Given the description of an element on the screen output the (x, y) to click on. 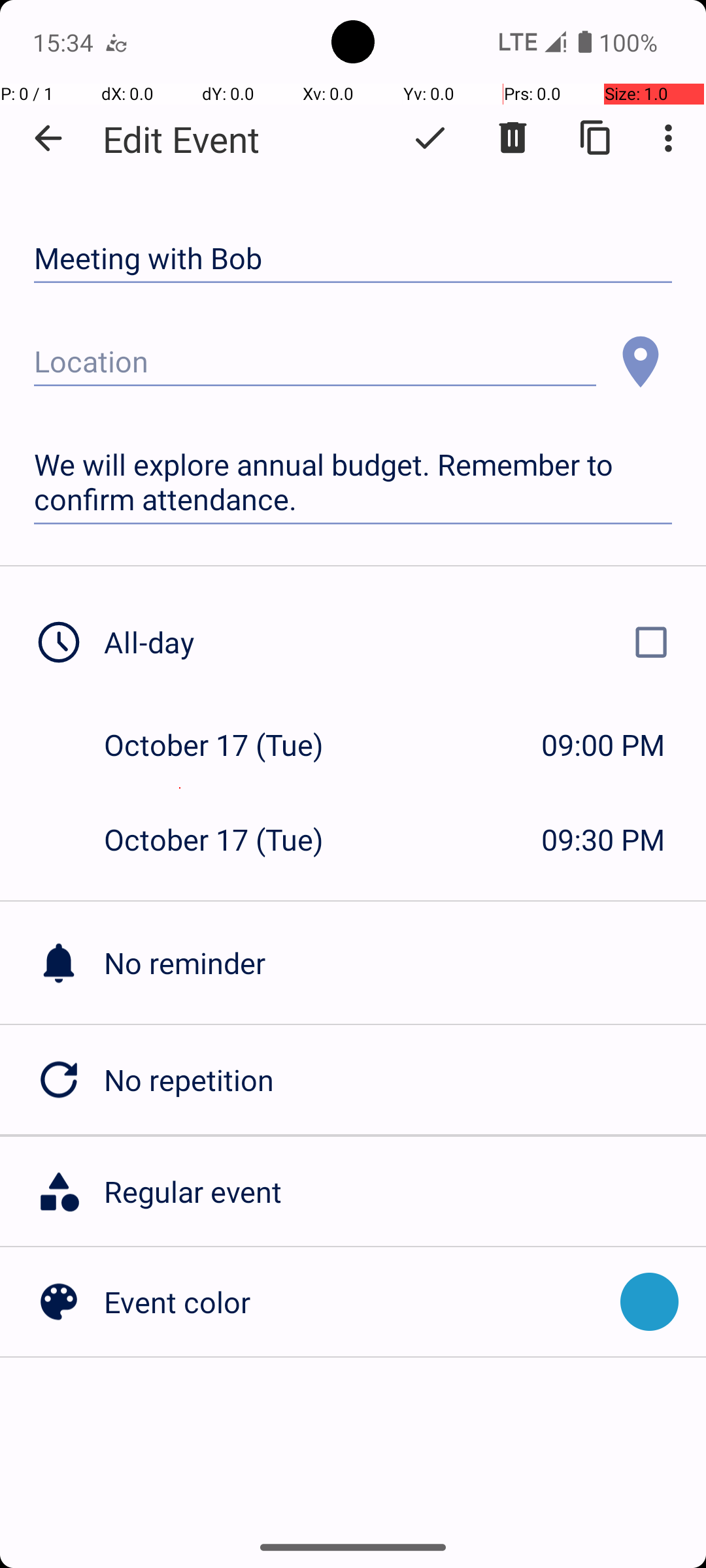
Meeting with Bob Element type: android.widget.EditText (352, 258)
We will explore annual budget. Remember to confirm attendance. Element type: android.widget.EditText (352, 482)
October 17 (Tue) Element type: android.widget.TextView (227, 744)
09:00 PM Element type: android.widget.TextView (602, 744)
09:30 PM Element type: android.widget.TextView (602, 838)
